Given the description of an element on the screen output the (x, y) to click on. 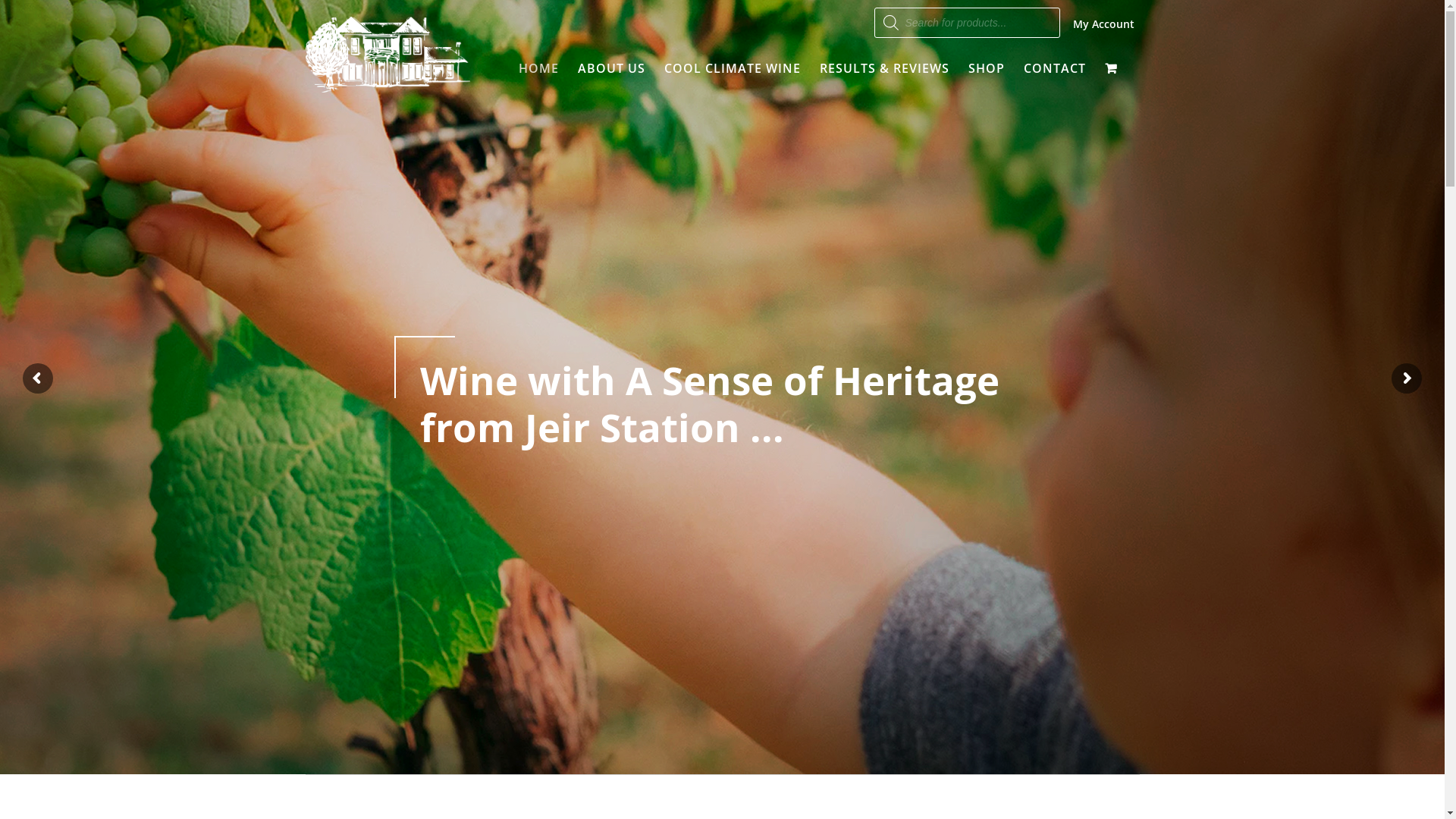
HOME Element type: text (538, 67)
RESULTS & REVIEWS Element type: text (883, 67)
COOL CLIMATE WINE Element type: text (732, 67)
My Account Element type: text (1106, 23)
SHOP Element type: text (985, 67)
CONTACT Element type: text (1054, 67)
ABOUT US Element type: text (611, 67)
